Given the description of an element on the screen output the (x, y) to click on. 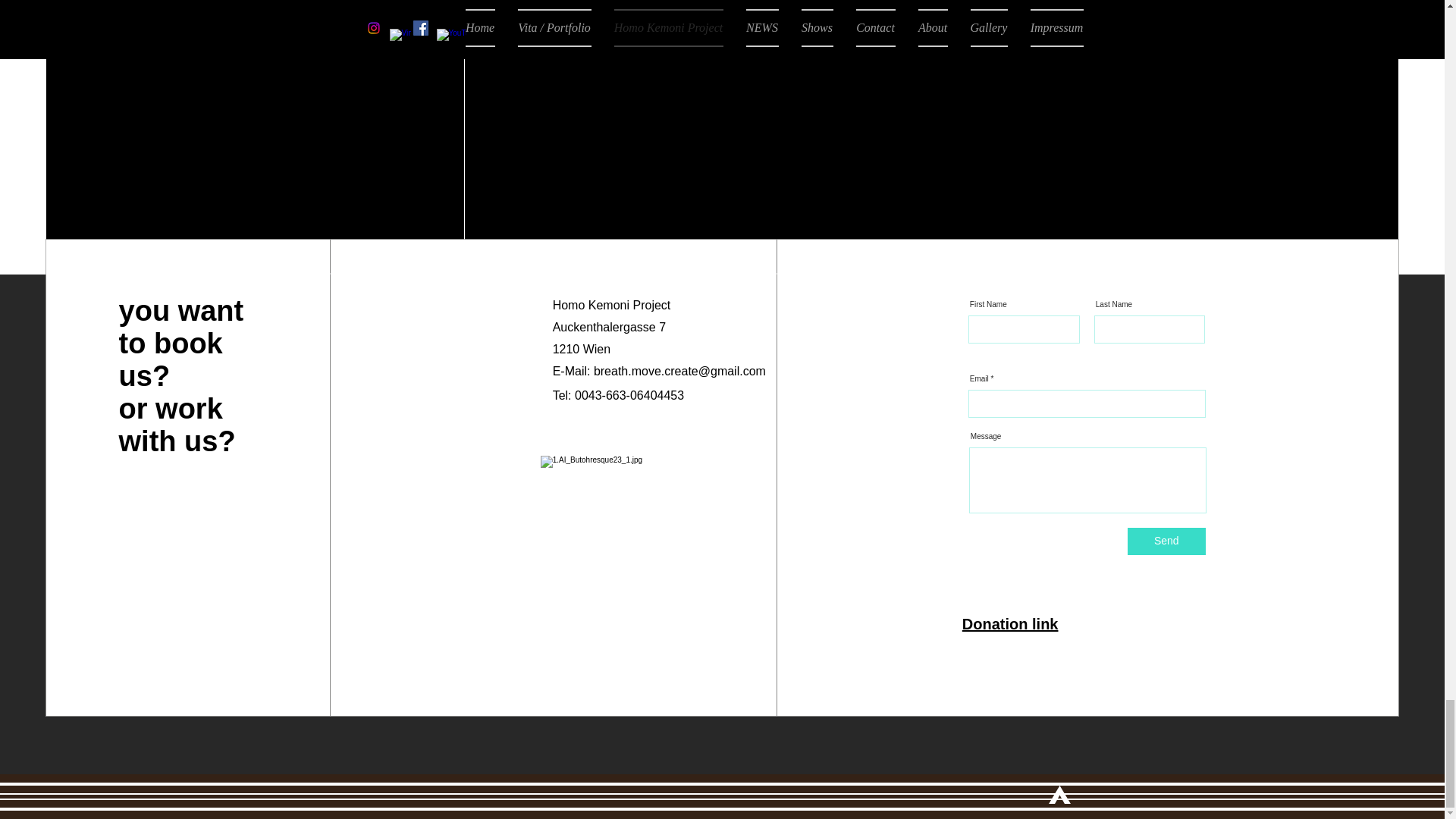
Donation link (1010, 623)
Send (1165, 541)
